Given the description of an element on the screen output the (x, y) to click on. 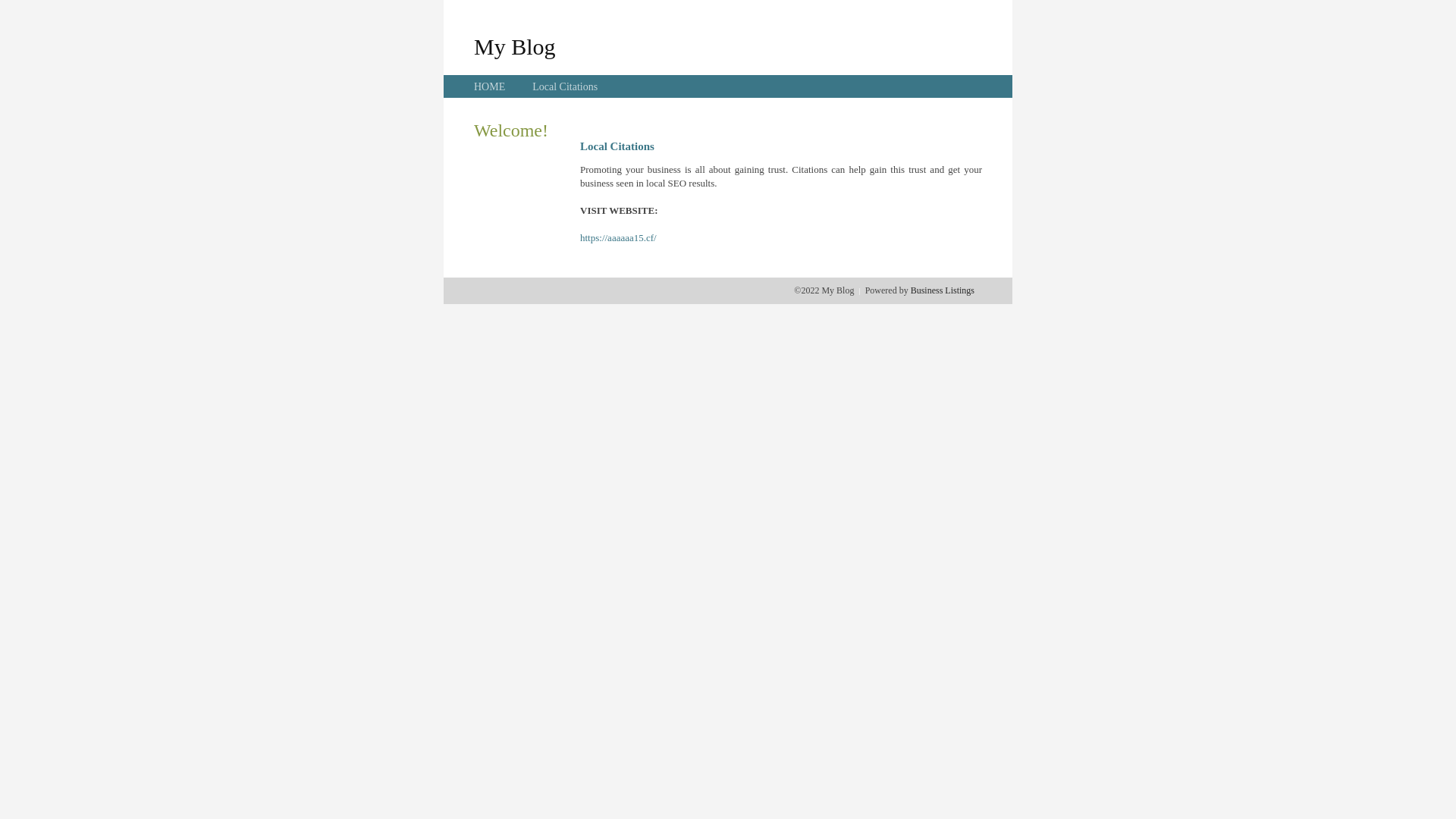
https://aaaaaa15.cf/ Element type: text (618, 237)
HOME Element type: text (489, 86)
Business Listings Element type: text (942, 290)
My Blog Element type: text (514, 46)
Local Citations Element type: text (564, 86)
